Given the description of an element on the screen output the (x, y) to click on. 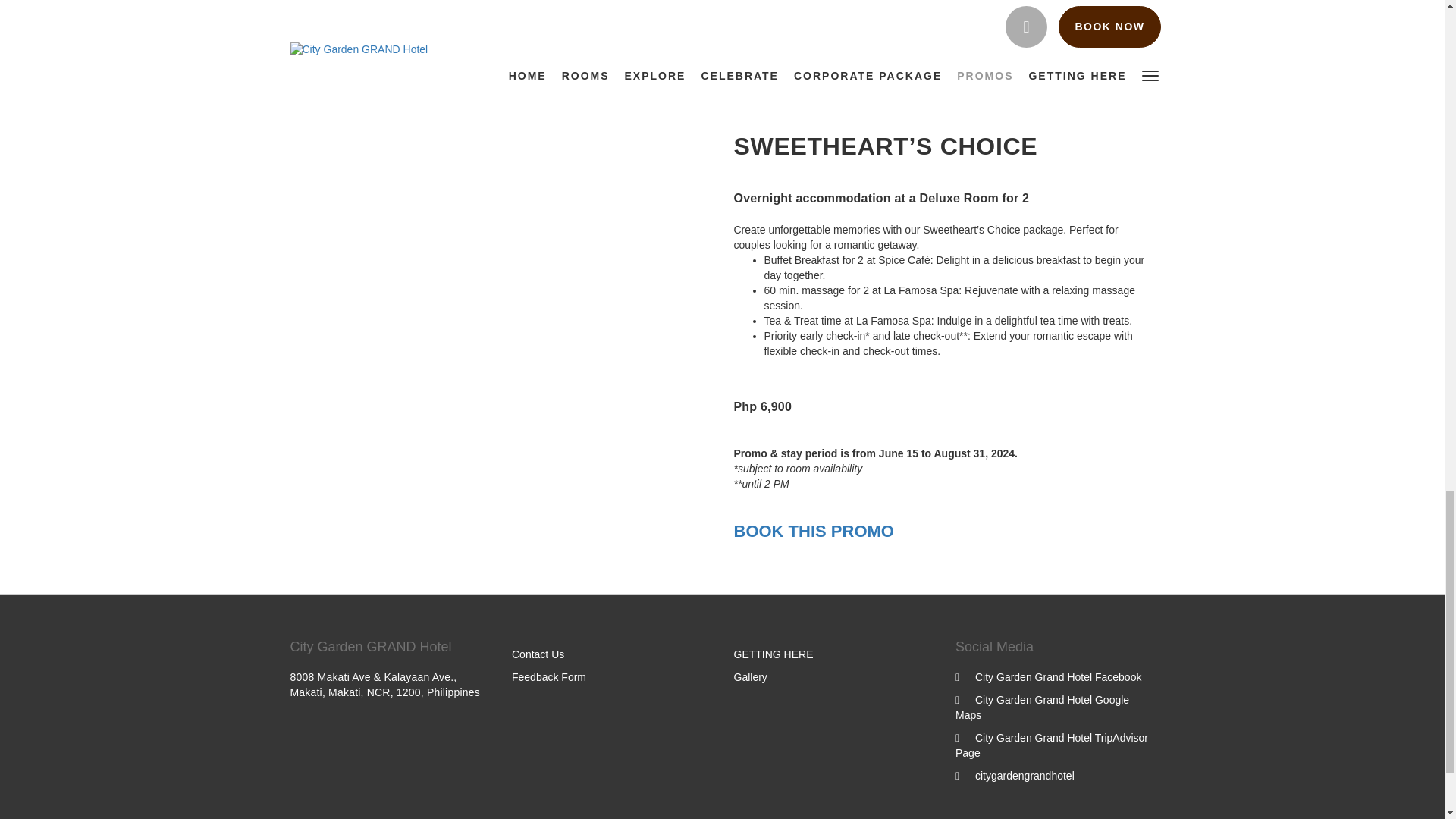
BOOK THIS PROMO (813, 530)
GETTING HERE (773, 654)
BOOK THIS PROMO (813, 85)
Feedback Form (549, 676)
Contact Us (538, 654)
